Given the description of an element on the screen output the (x, y) to click on. 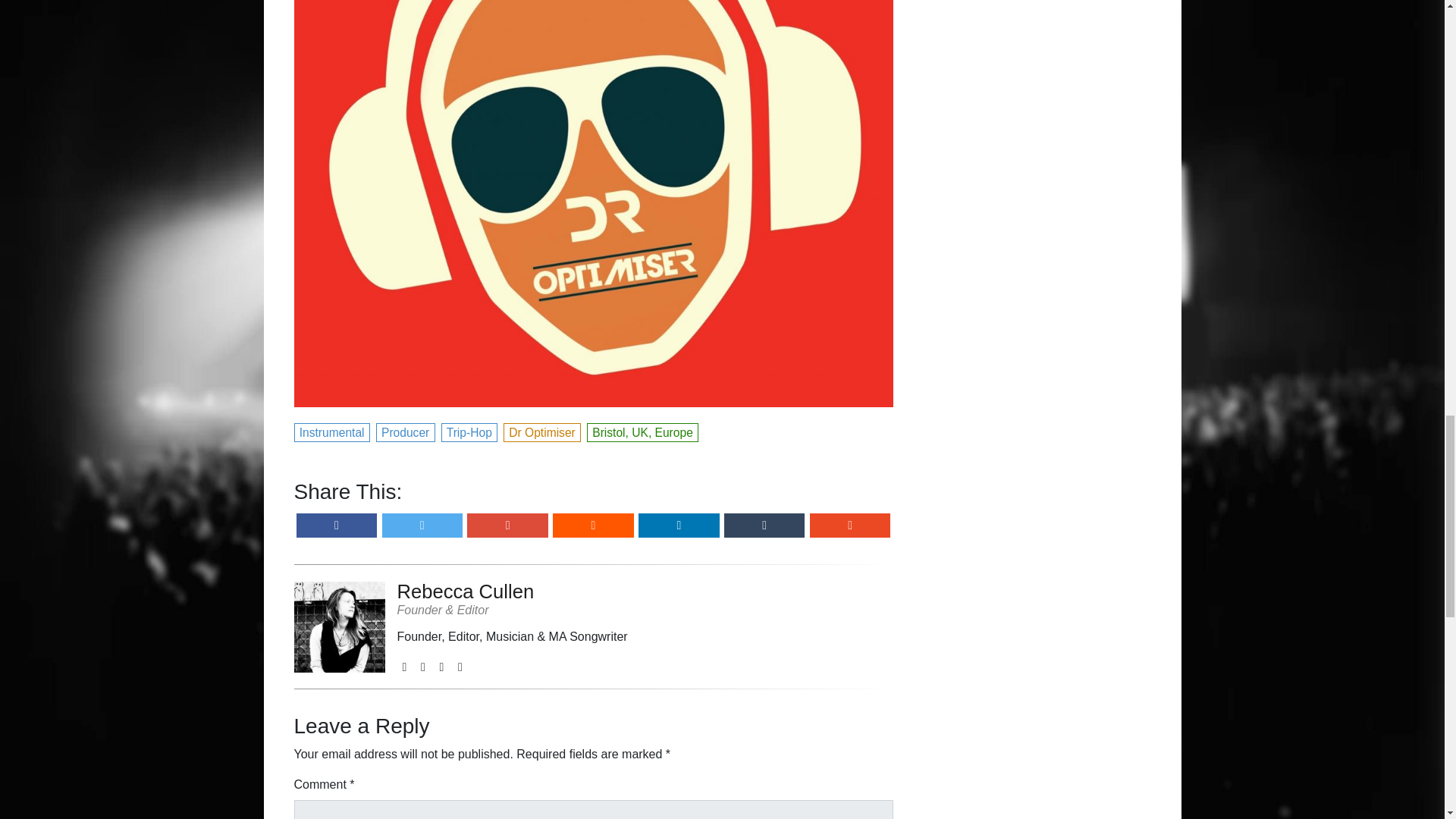
Bristol, UK, Europe (643, 430)
Producer (405, 430)
Instrumental (332, 430)
Trip-Hop (470, 430)
Dr Optimiser (542, 430)
Rebecca Cullen (512, 591)
